Given the description of an element on the screen output the (x, y) to click on. 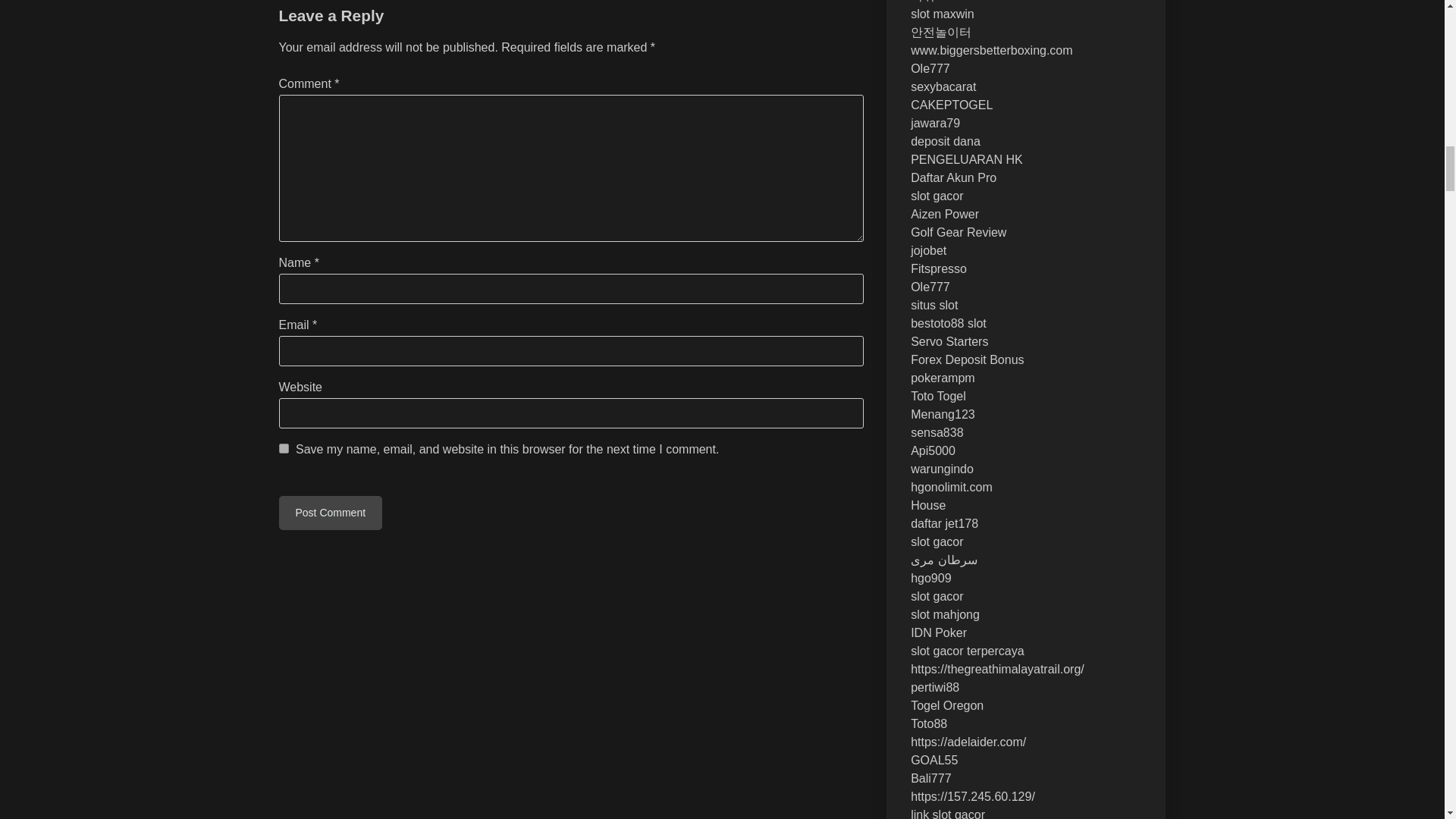
Post Comment (330, 512)
jojobet (928, 250)
yes (283, 448)
Post Comment (330, 512)
